Given the description of an element on the screen output the (x, y) to click on. 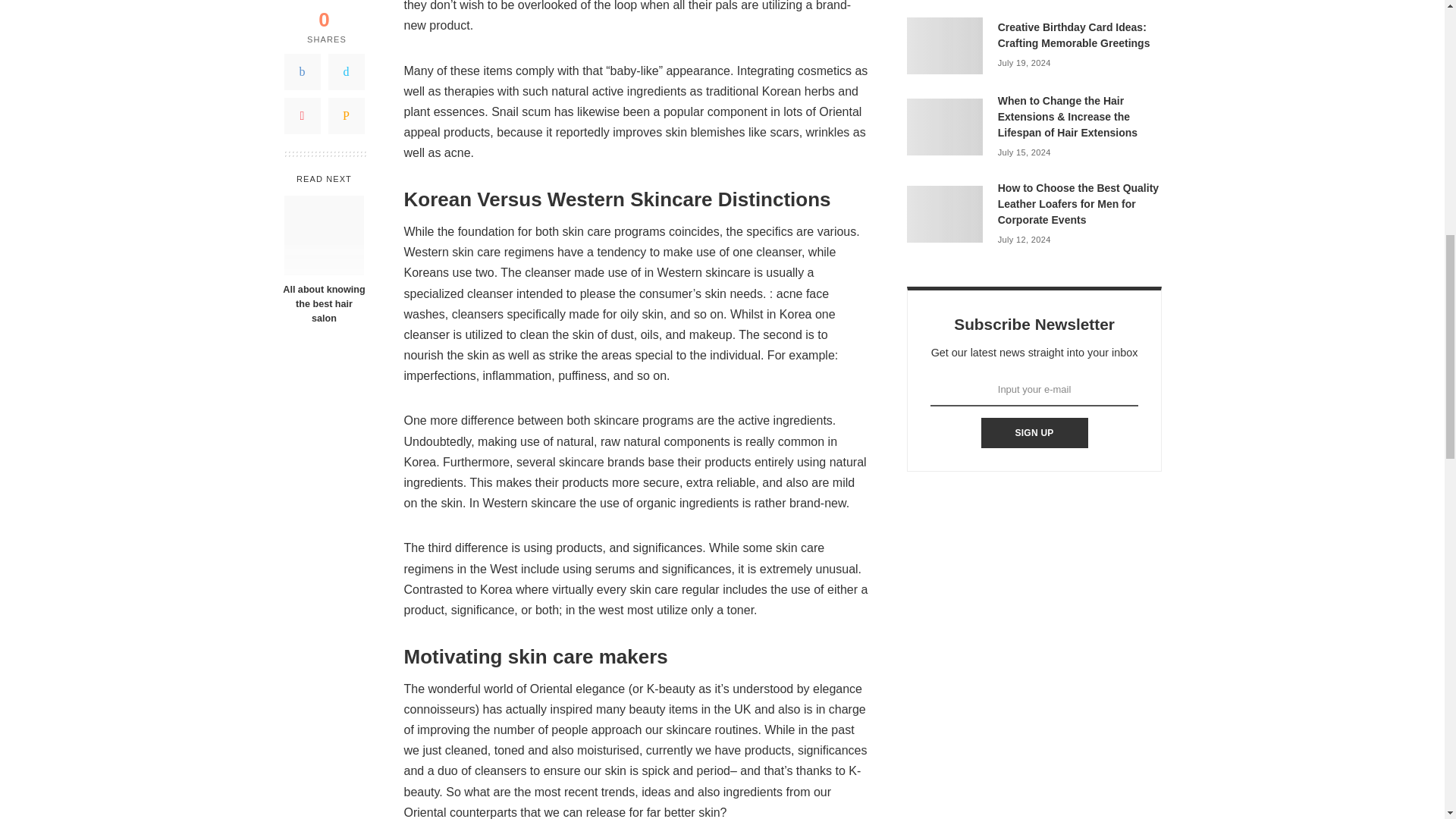
All about knowing the best hair salon (323, 167)
All about knowing the best hair salon (323, 98)
All about knowing the best hair salon (323, 167)
